Given the description of an element on the screen output the (x, y) to click on. 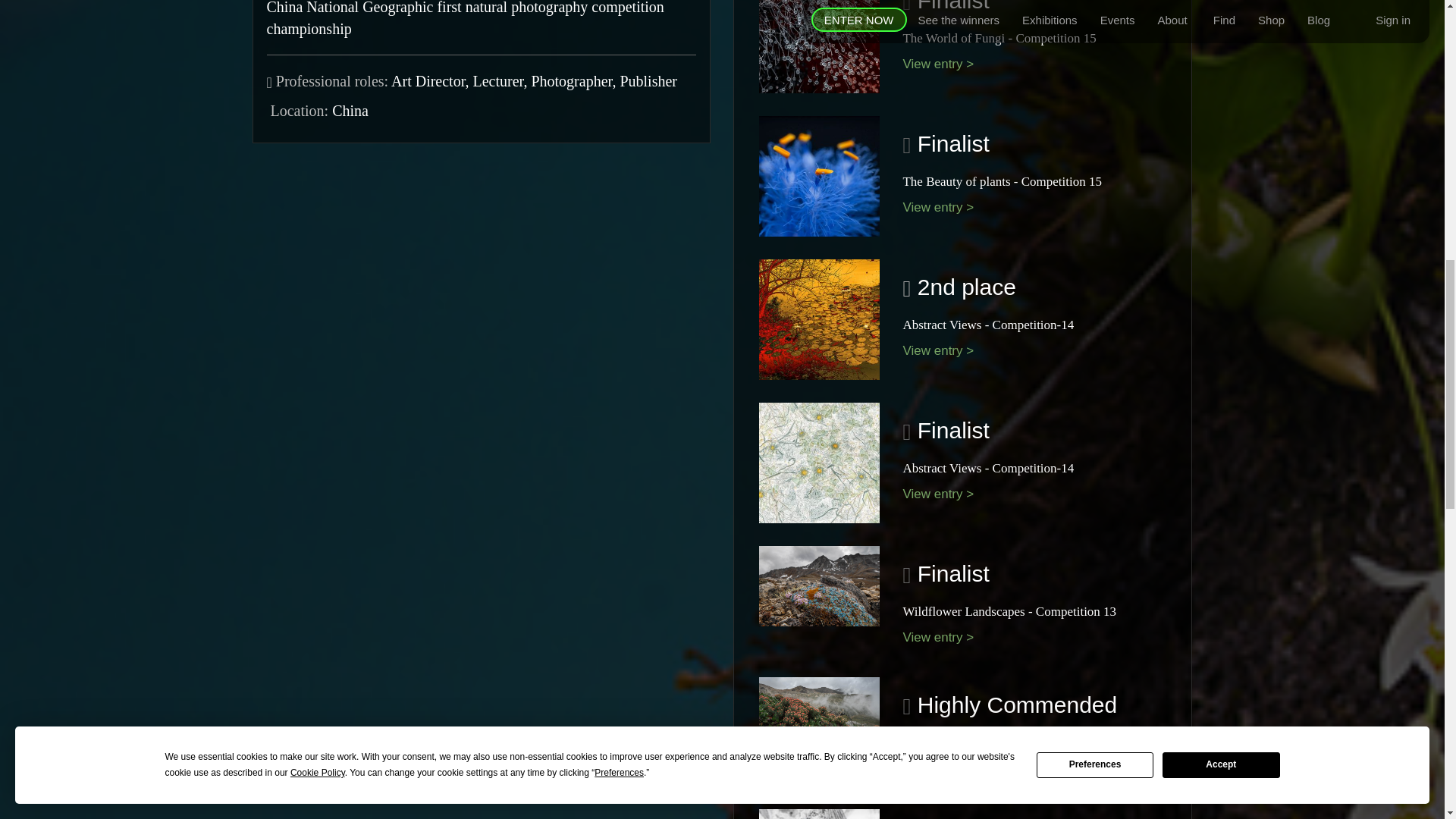
Finalist (949, 143)
2nd place (962, 286)
Finalist (949, 6)
